Given the description of an element on the screen output the (x, y) to click on. 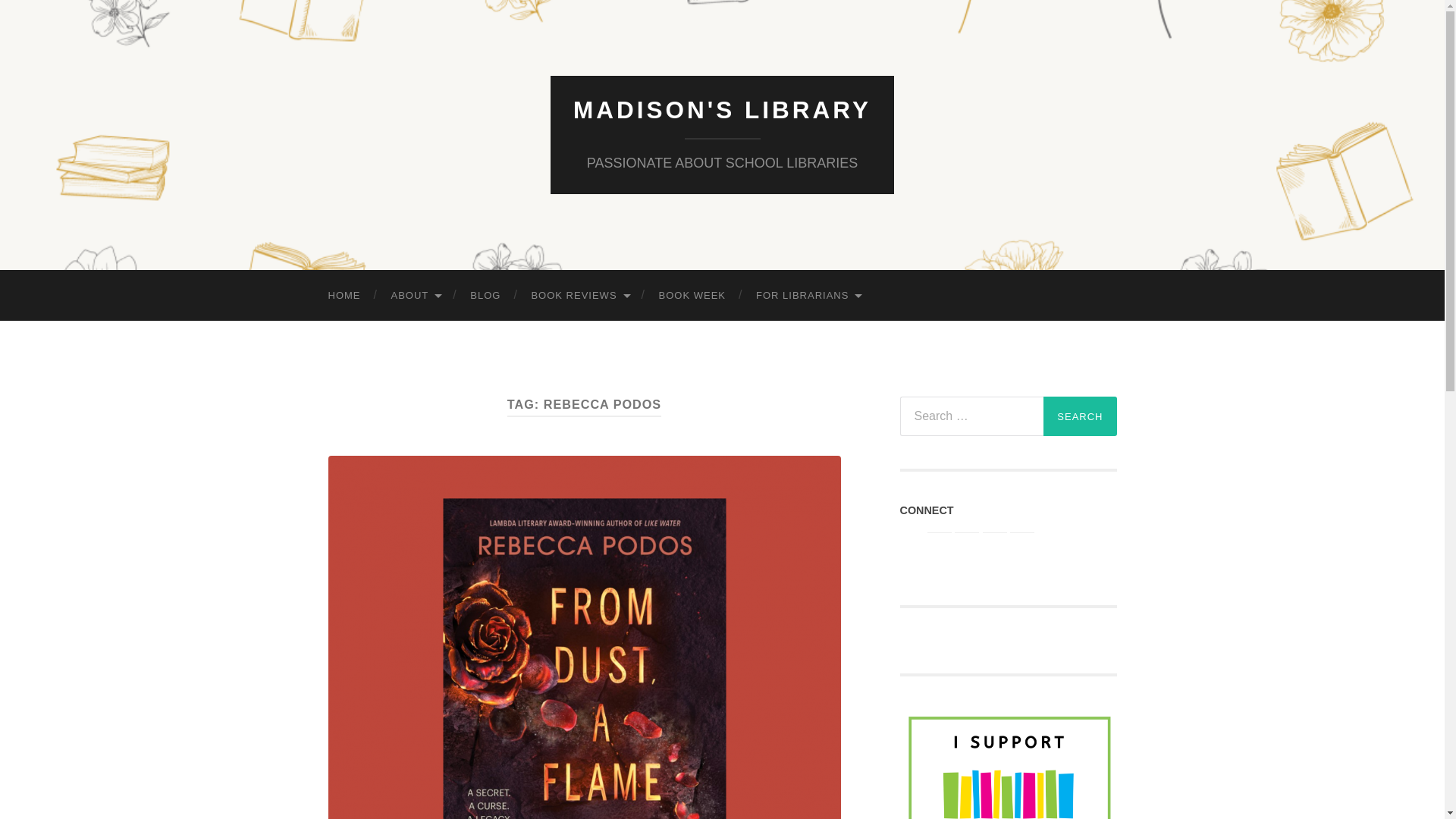
BOOK REVIEWS (579, 295)
Search (1079, 415)
Search (1079, 415)
ABOUT (415, 295)
HOME (344, 295)
BOOK WEEK (692, 295)
FOR LIBRARIANS (808, 295)
MADISON'S LIBRARY (721, 109)
BLOG (484, 295)
